Given the description of an element on the screen output the (x, y) to click on. 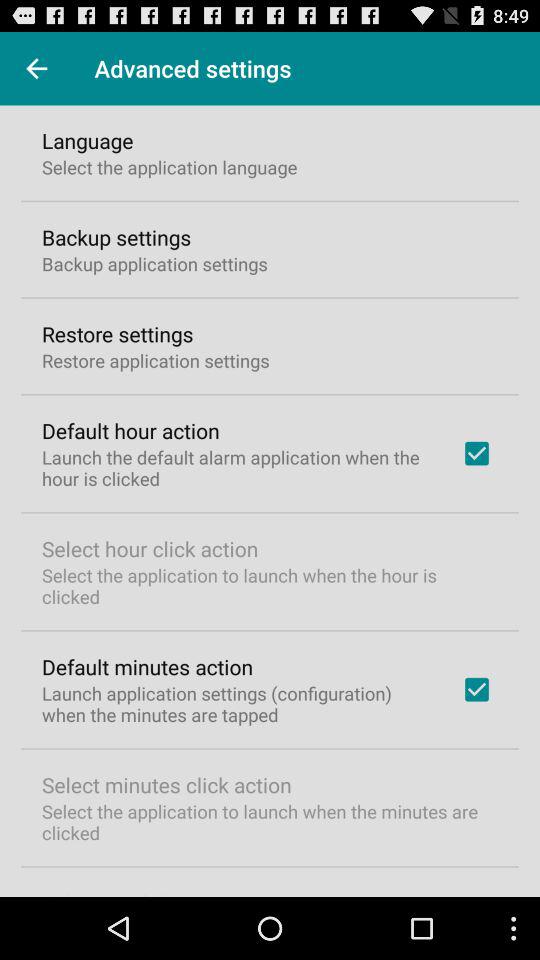
tap the icon above the language item (36, 68)
